Given the description of an element on the screen output the (x, y) to click on. 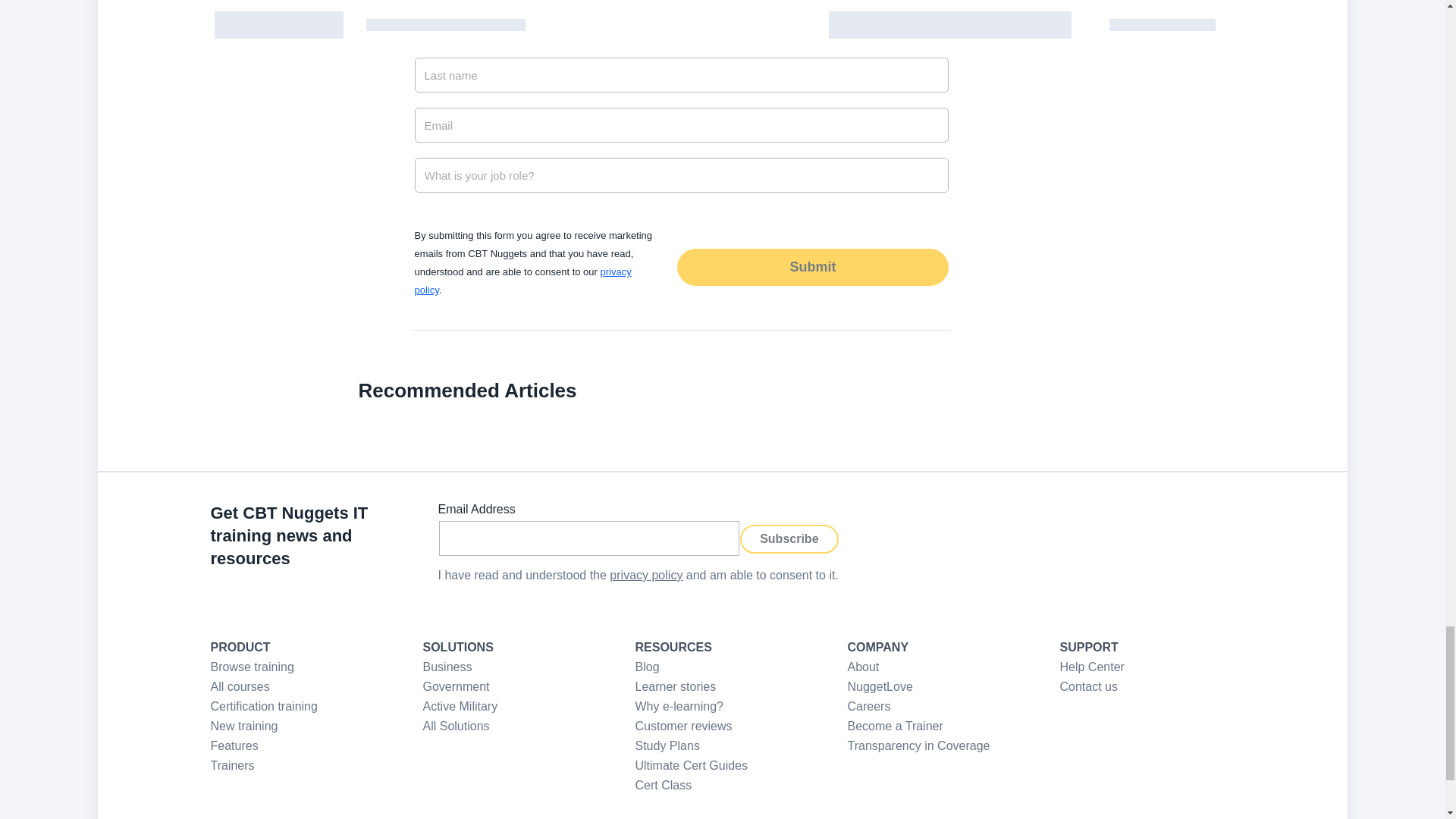
New training (244, 725)
Active Military (460, 706)
privacy policy (521, 280)
Certification training (264, 706)
Business (447, 666)
Features (235, 745)
privacy policy (646, 574)
Submit (812, 266)
All Solutions (456, 725)
Browse training (252, 666)
Subscribe (788, 538)
All courses (240, 686)
Government (456, 686)
Trainers (232, 765)
